Given the description of an element on the screen output the (x, y) to click on. 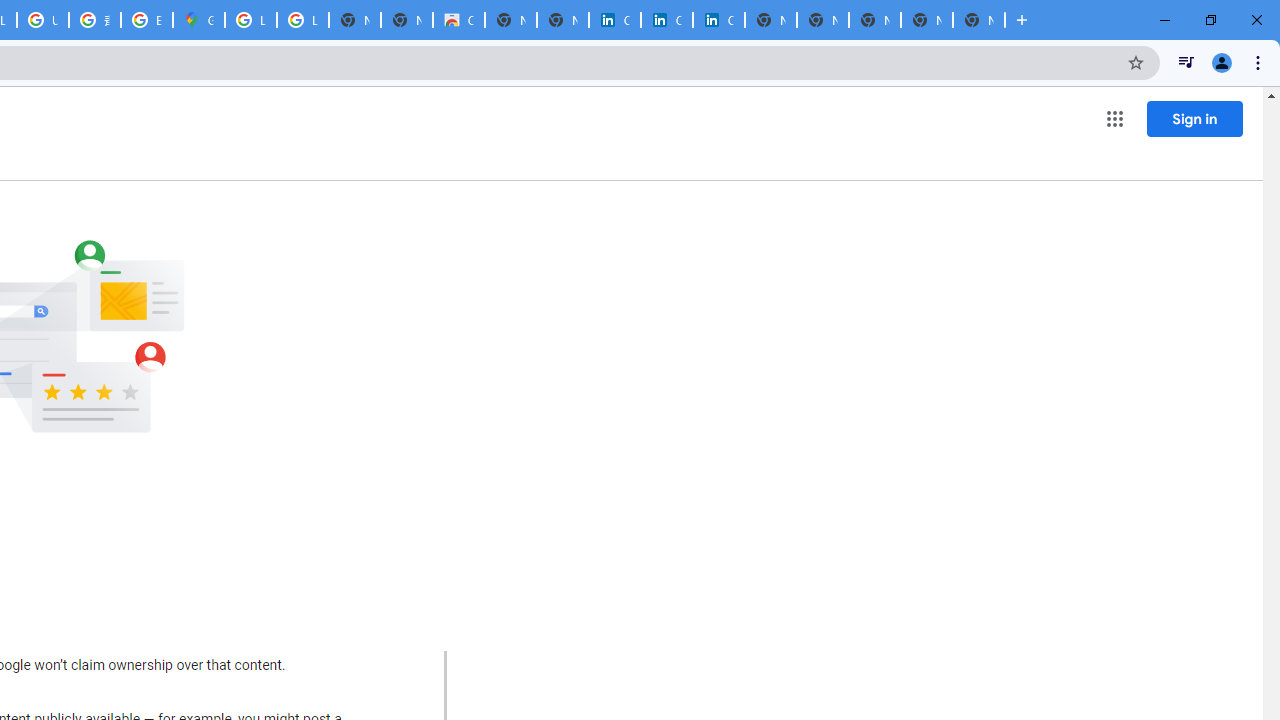
Google Maps (198, 20)
Cookie Policy | LinkedIn (614, 20)
New Tab (978, 20)
Chrome Web Store (458, 20)
